Given the description of an element on the screen output the (x, y) to click on. 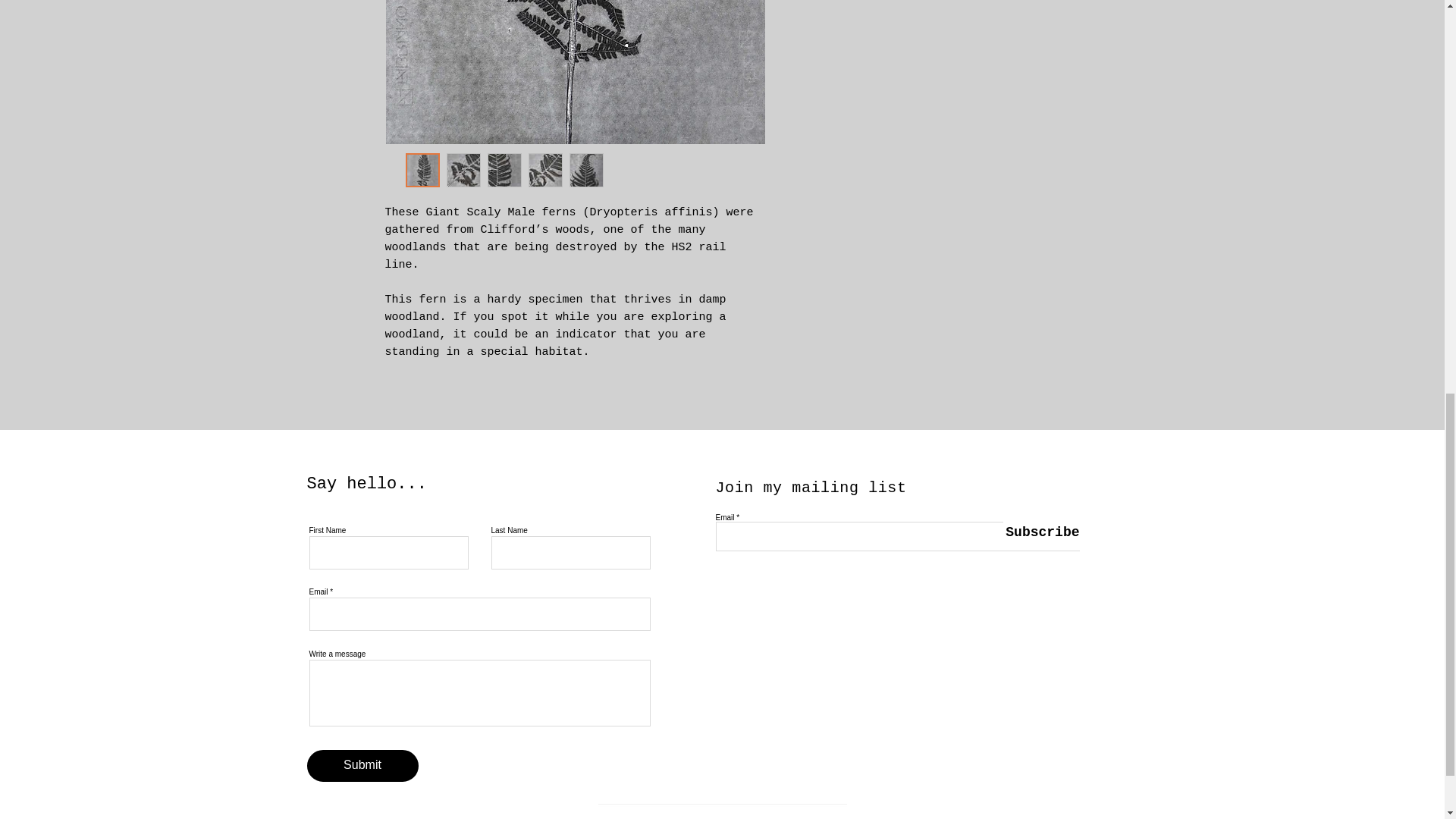
Subscribe (1040, 532)
Submit (361, 766)
